Given the description of an element on the screen output the (x, y) to click on. 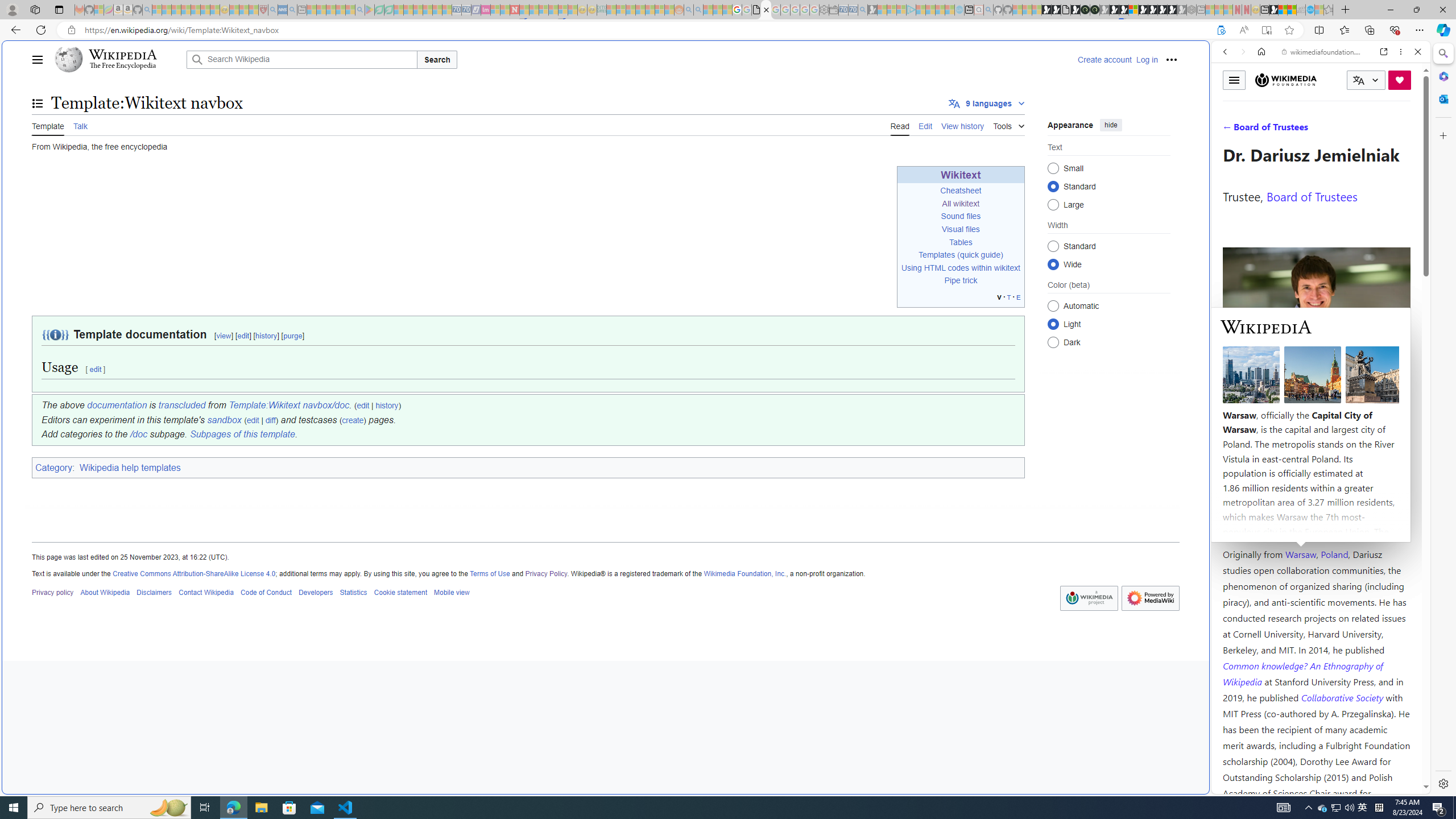
Wikipedia The Free Encyclopedia (117, 59)
Dark (1053, 341)
Large (1053, 204)
About Wikipedia (104, 592)
t (1008, 297)
Template:Wikitext navbox - Wikipedia (766, 9)
Edit (925, 124)
